Given the description of an element on the screen output the (x, y) to click on. 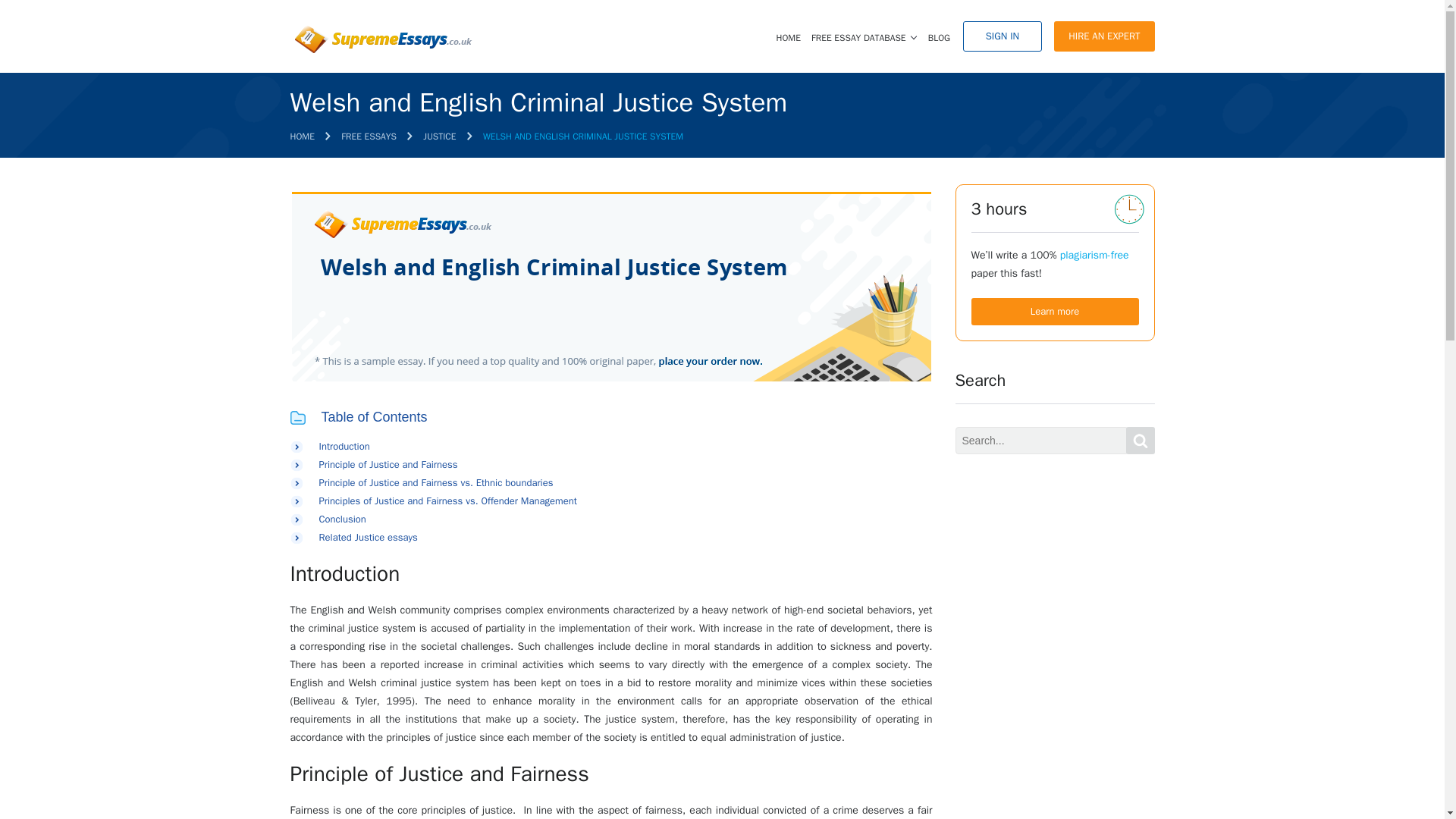
Introduction (343, 445)
Principles of Justice and Fairness vs. Offender Management (447, 500)
Related Justice essays (367, 536)
Principle of Justice and Fairness vs. Ethnic boundaries (435, 481)
FREE ESSAYS (368, 136)
Principle of Justice and Fairness (387, 463)
HOME (301, 136)
BLOG (938, 37)
Supremeessays.co.uk (380, 39)
JUSTICE (439, 136)
Welsh and English Criminal Justice System (610, 286)
Conclusion (341, 518)
